Given the description of an element on the screen output the (x, y) to click on. 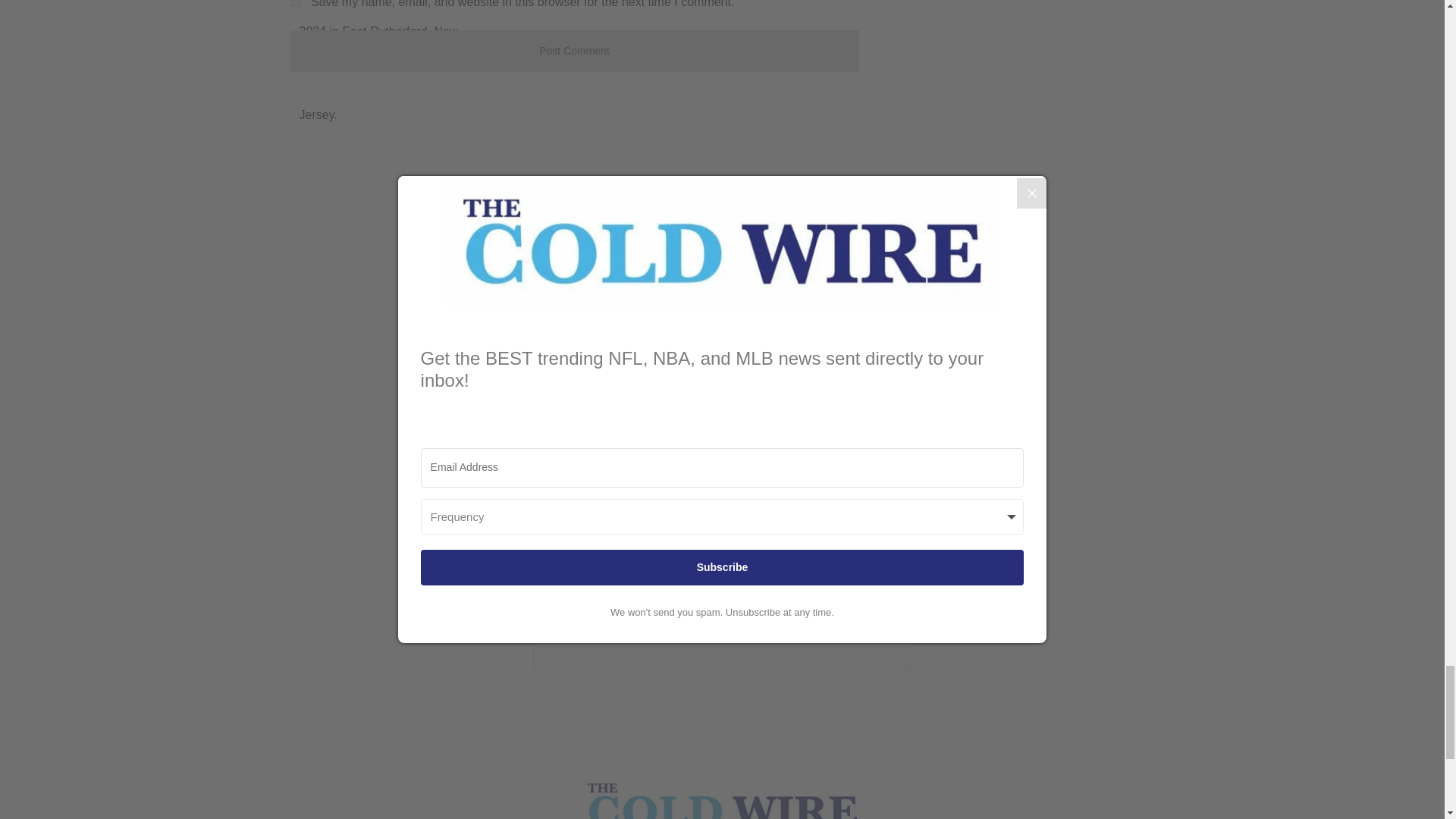
yes (294, 2)
Post Comment (574, 51)
